Given the description of an element on the screen output the (x, y) to click on. 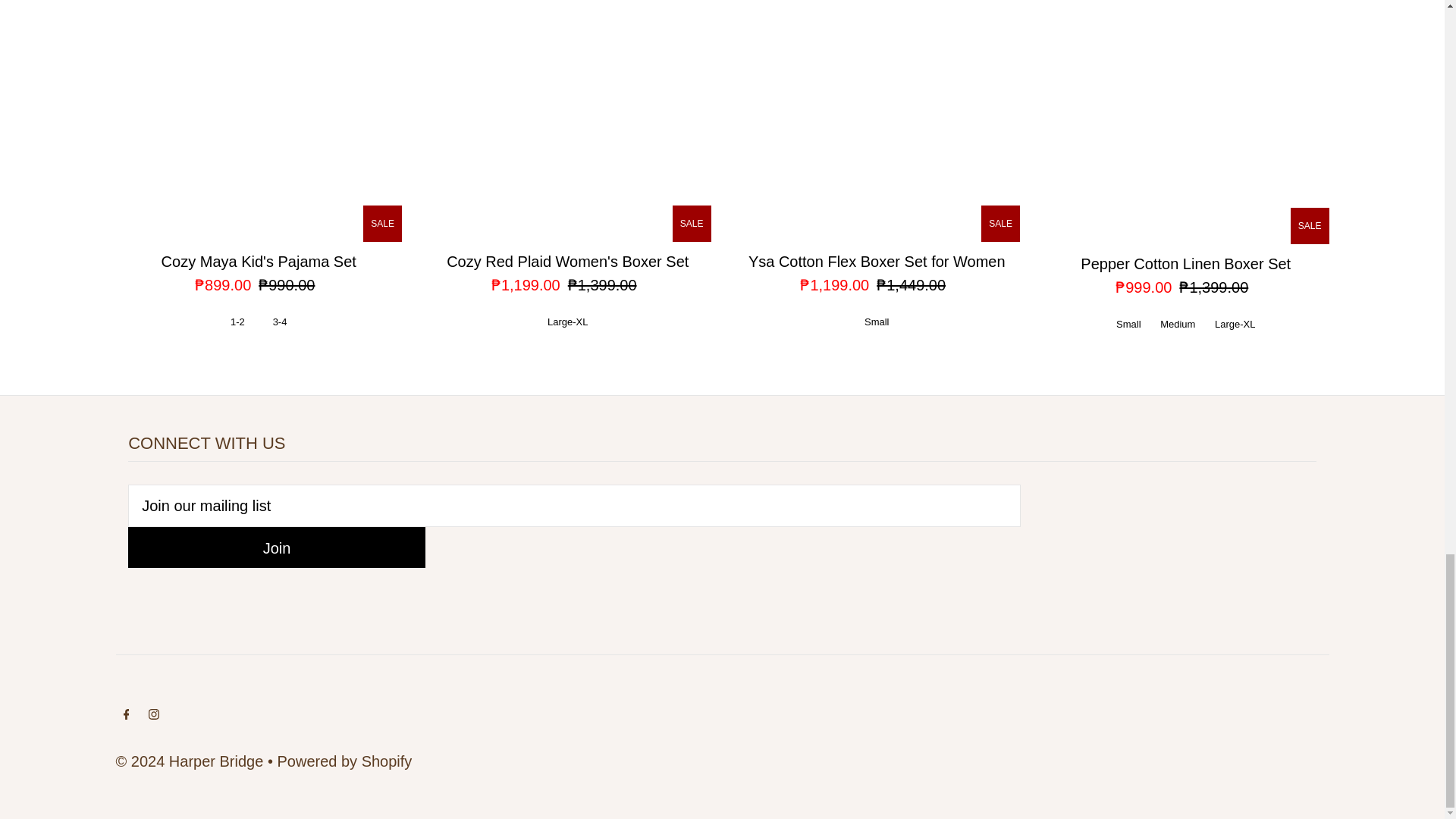
Pepper Cotton Linen Boxer Set (1185, 122)
Ysa Cotton Flex Boxer Set for Women (876, 120)
Cozy Red Plaid Women's Boxer Set (568, 120)
Join (276, 547)
Cozy Maya Kid's Pajama Set (258, 120)
